Given the description of an element on the screen output the (x, y) to click on. 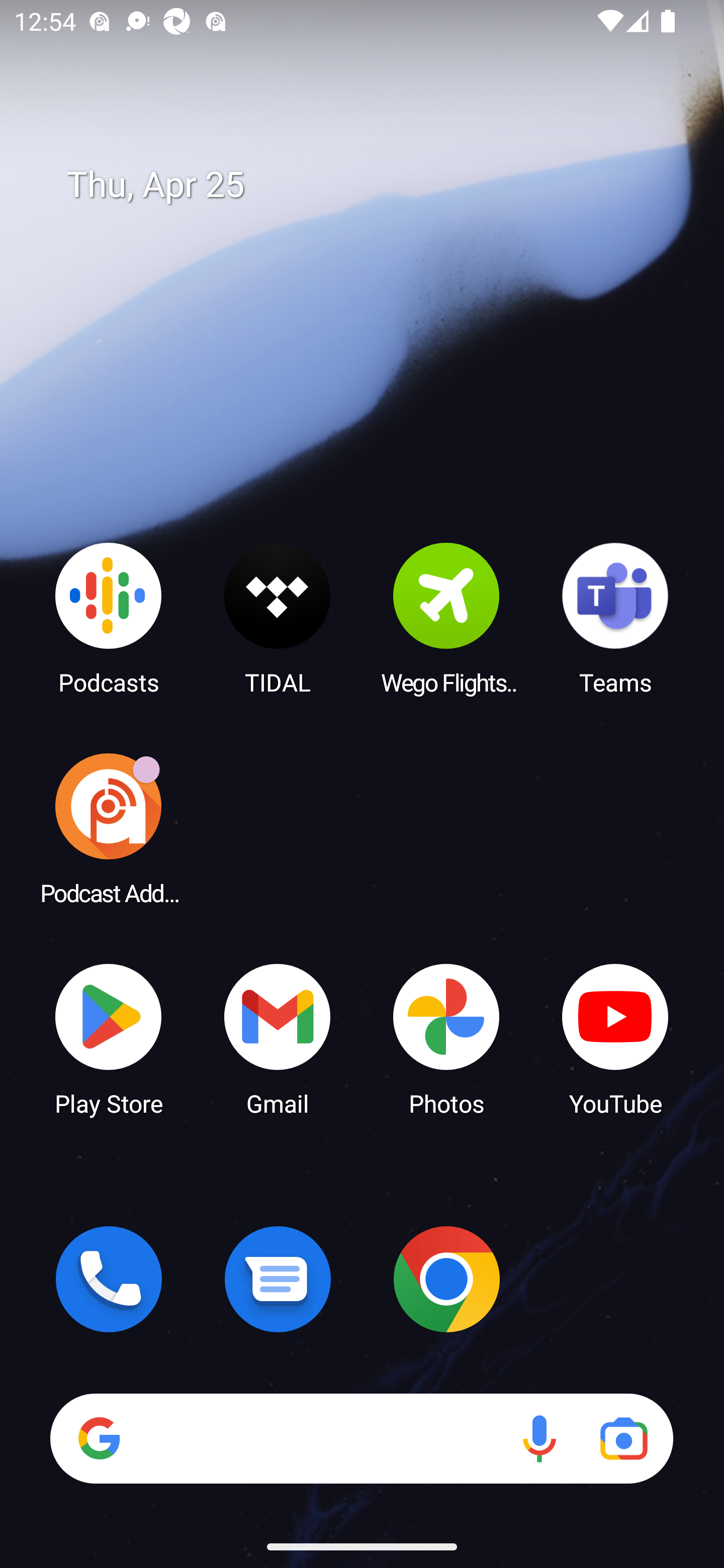
Thu, Apr 25 (375, 184)
Podcasts (108, 617)
TIDAL (277, 617)
Wego Flights & Hotels (445, 617)
Teams (615, 617)
Play Store (108, 1038)
Gmail (277, 1038)
Photos (445, 1038)
YouTube (615, 1038)
Phone (108, 1279)
Messages (277, 1279)
Chrome (446, 1279)
Search Voice search Google Lens (361, 1438)
Voice search (539, 1438)
Google Lens (623, 1438)
